Given the description of an element on the screen output the (x, y) to click on. 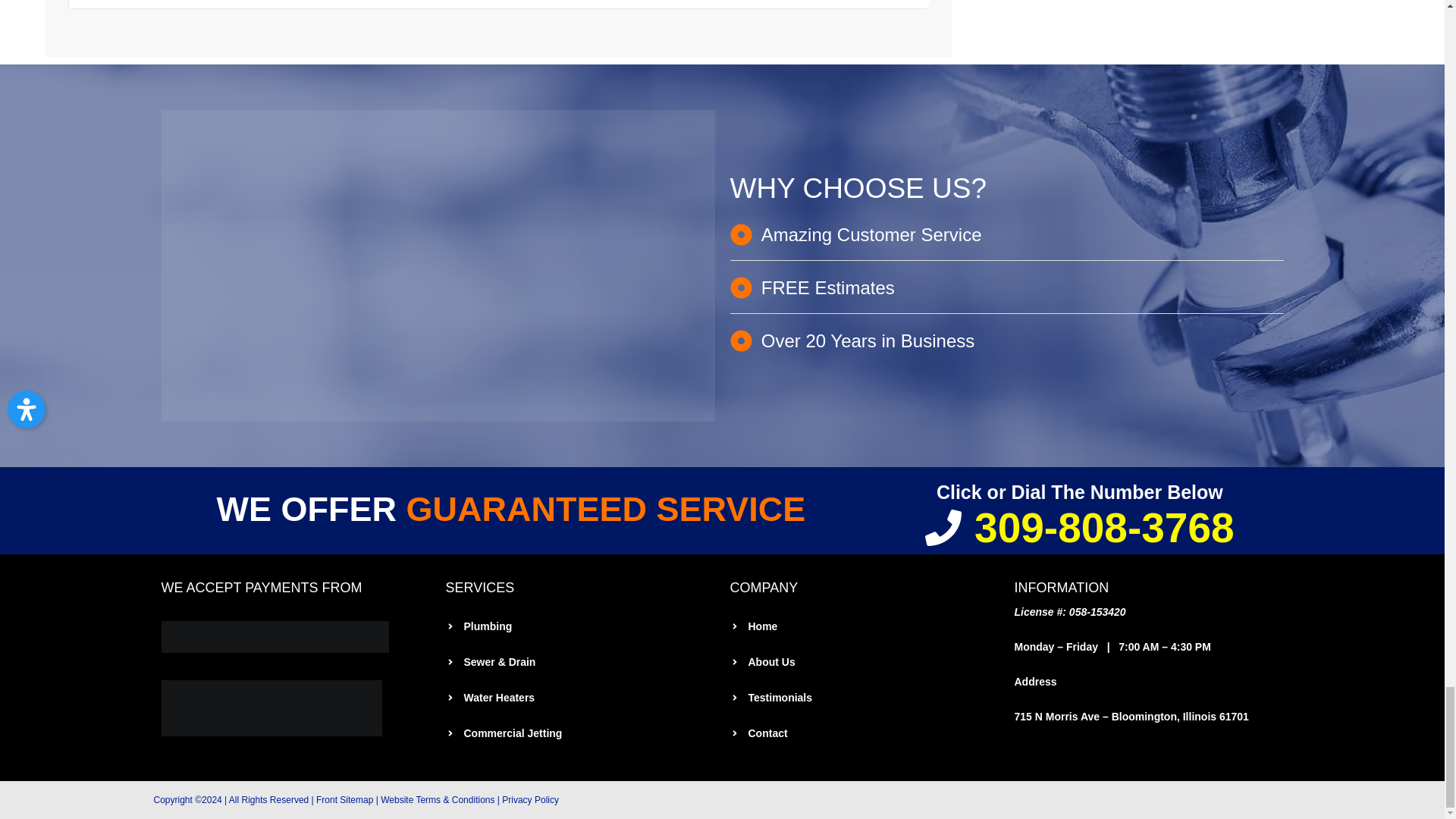
309-808-3768 (1079, 528)
Plumbing (579, 626)
Click or Dial The Number Below (1079, 491)
